Given the description of an element on the screen output the (x, y) to click on. 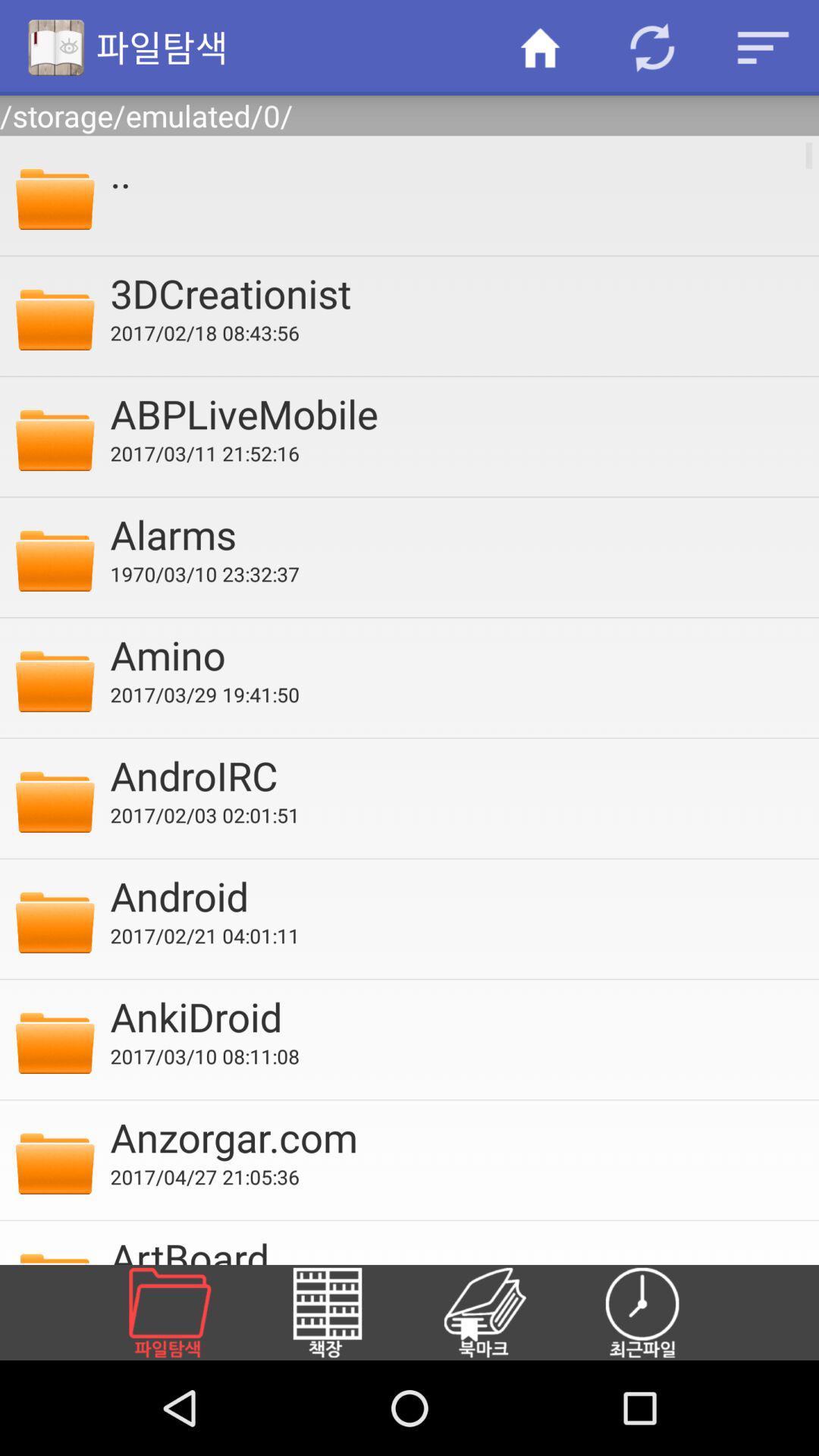
this is phone contact book this keep all records of phone number (502, 1312)
